Given the description of an element on the screen output the (x, y) to click on. 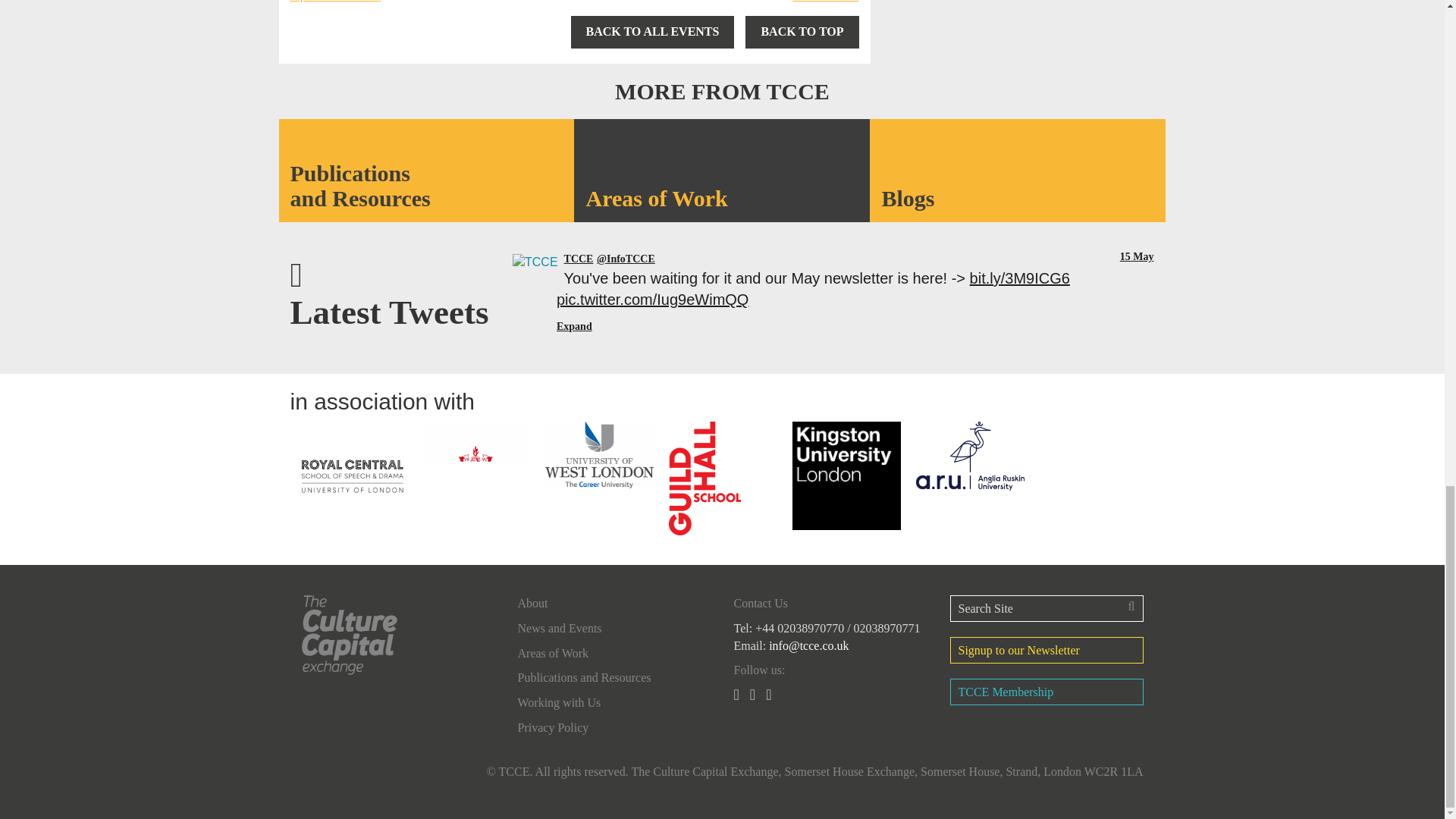
TCCE (534, 259)
TCCE (579, 258)
TCCE (625, 258)
